Given the description of an element on the screen output the (x, y) to click on. 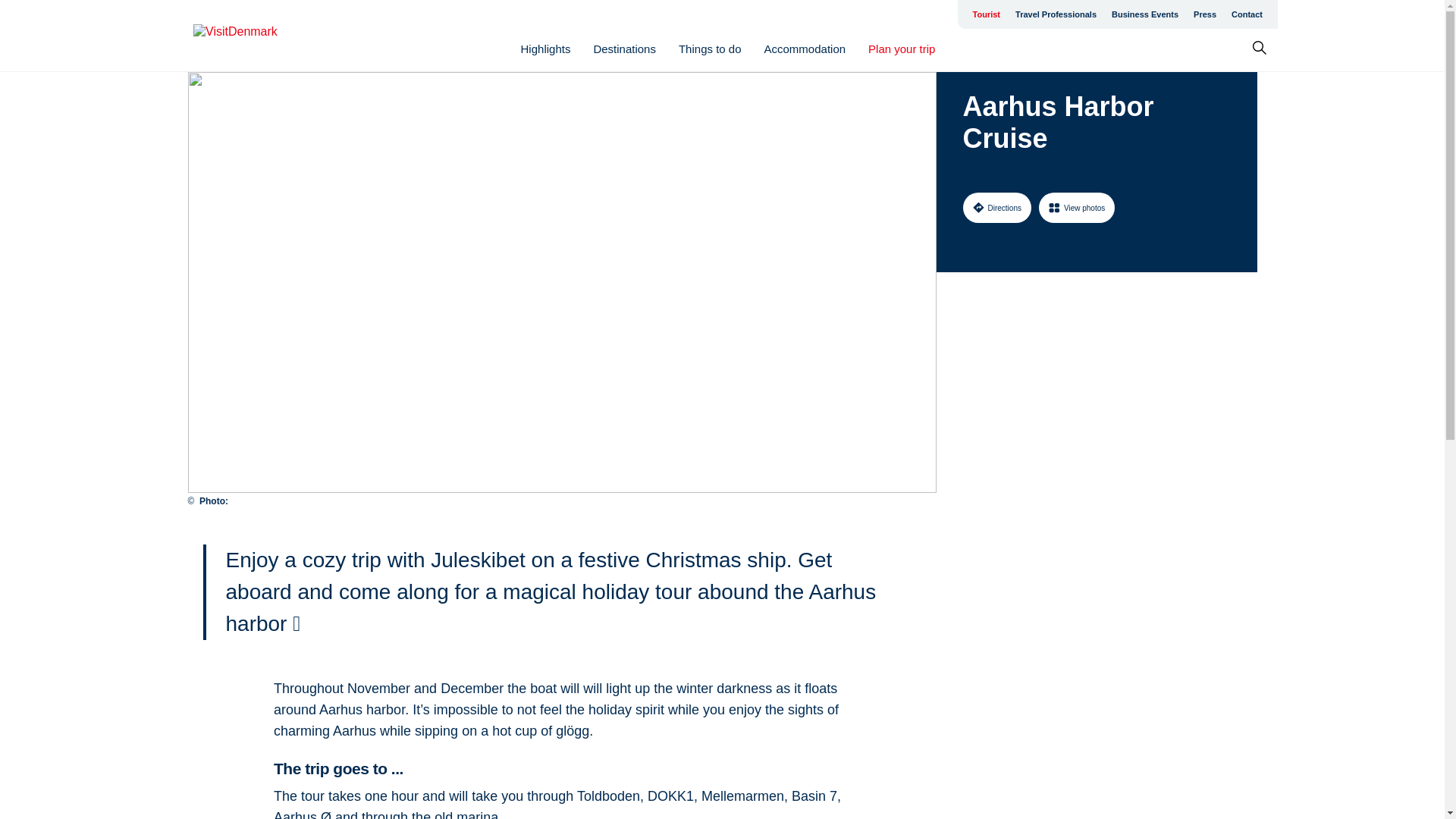
Business Events (1144, 14)
Highlights (545, 48)
Things to do (709, 48)
Press (1205, 14)
Contact (1246, 14)
Travel Professionals (1055, 14)
Tourist (986, 14)
Go to homepage (253, 35)
Directions (996, 207)
View photos (1077, 207)
Accommodation (804, 48)
Destinations (624, 48)
Plan your trip (900, 48)
